Given the description of an element on the screen output the (x, y) to click on. 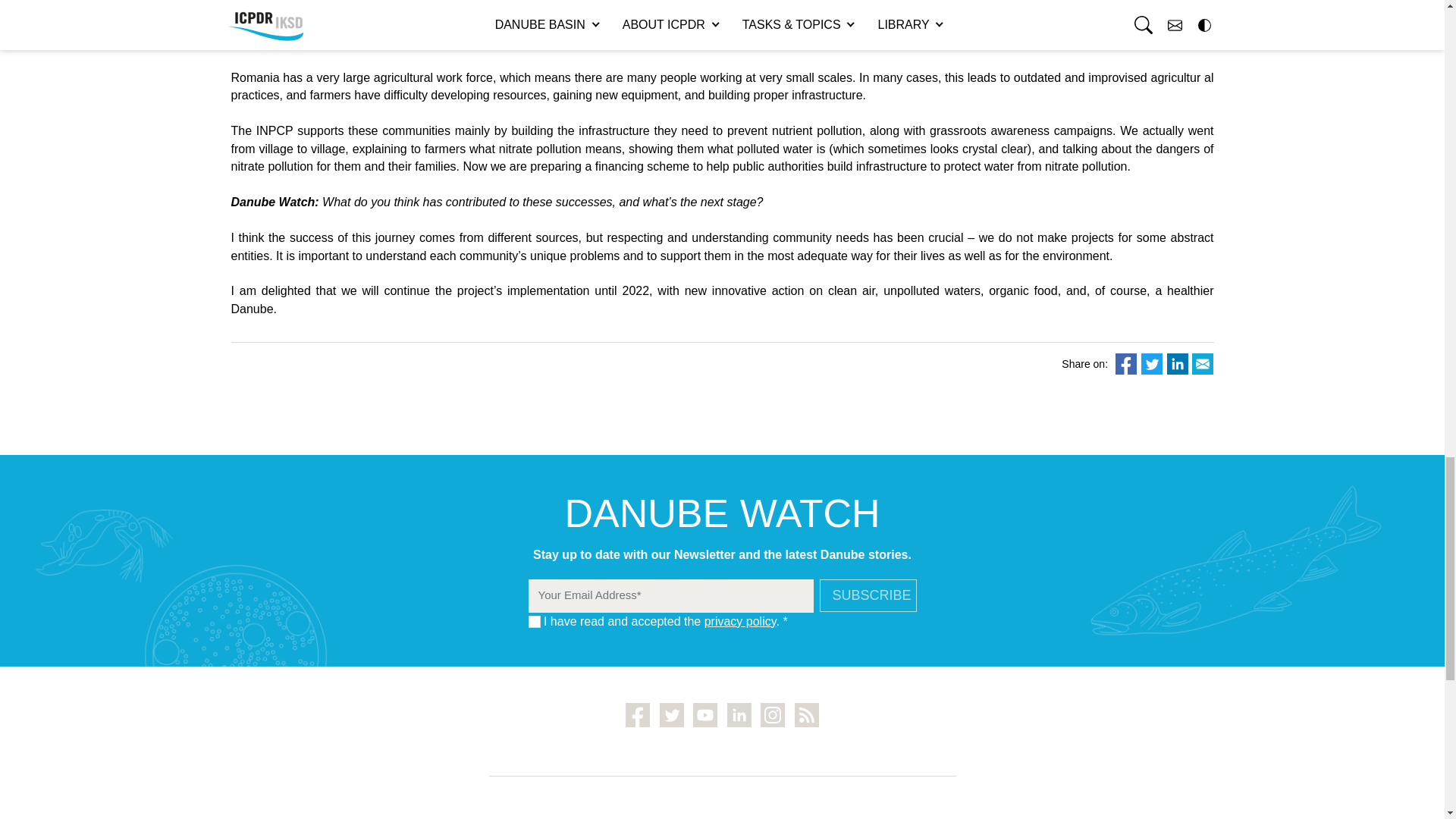
1 (533, 621)
Follow us on Facebook! (637, 714)
European Union (764, 42)
Subscribe (866, 595)
